Given the description of an element on the screen output the (x, y) to click on. 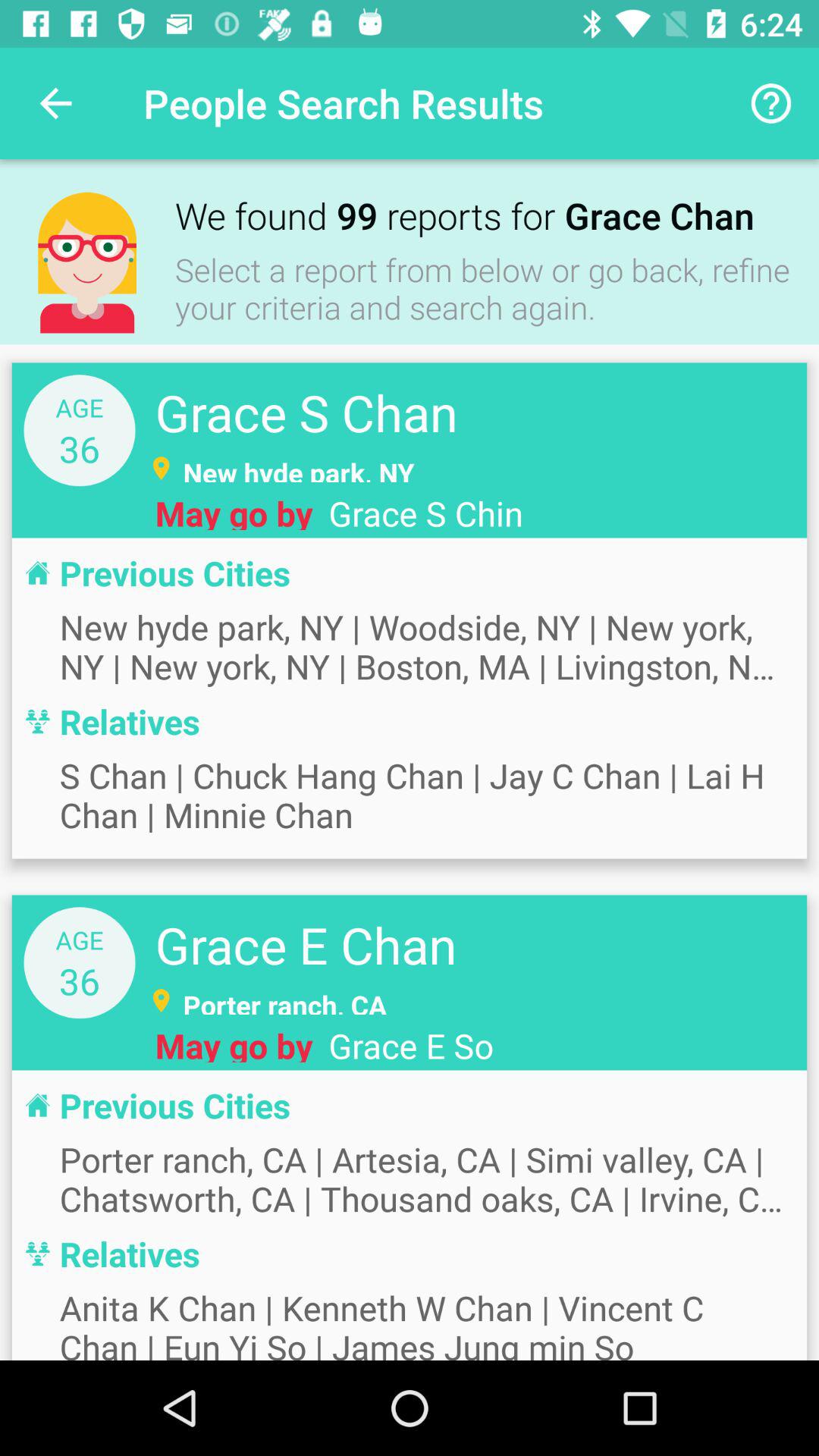
open icon to the left of the people search results icon (55, 103)
